Given the description of an element on the screen output the (x, y) to click on. 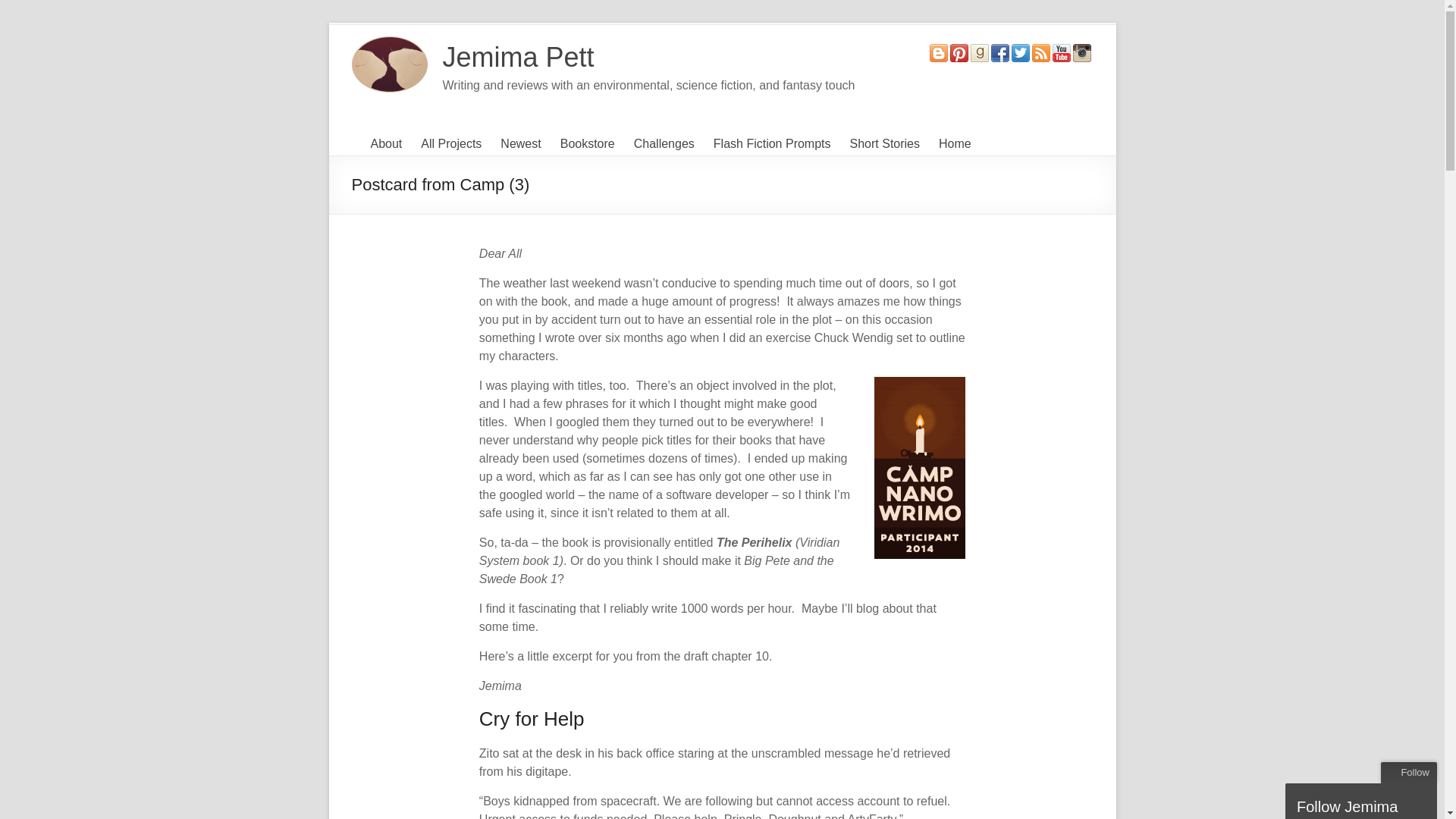
Jemima Pett (518, 56)
Goodreads (979, 51)
Bookstore (587, 143)
YouTube Channel (1061, 51)
Blogger Blog (938, 51)
Jemima Pett (518, 56)
jemima.pett on Instagram (1080, 51)
Connect on Facebook (999, 51)
About (385, 143)
jemimapett on Pinterest (958, 51)
Subscribe to RSS Feed (1039, 51)
All Projects (450, 143)
Newest (520, 143)
